Given the description of an element on the screen output the (x, y) to click on. 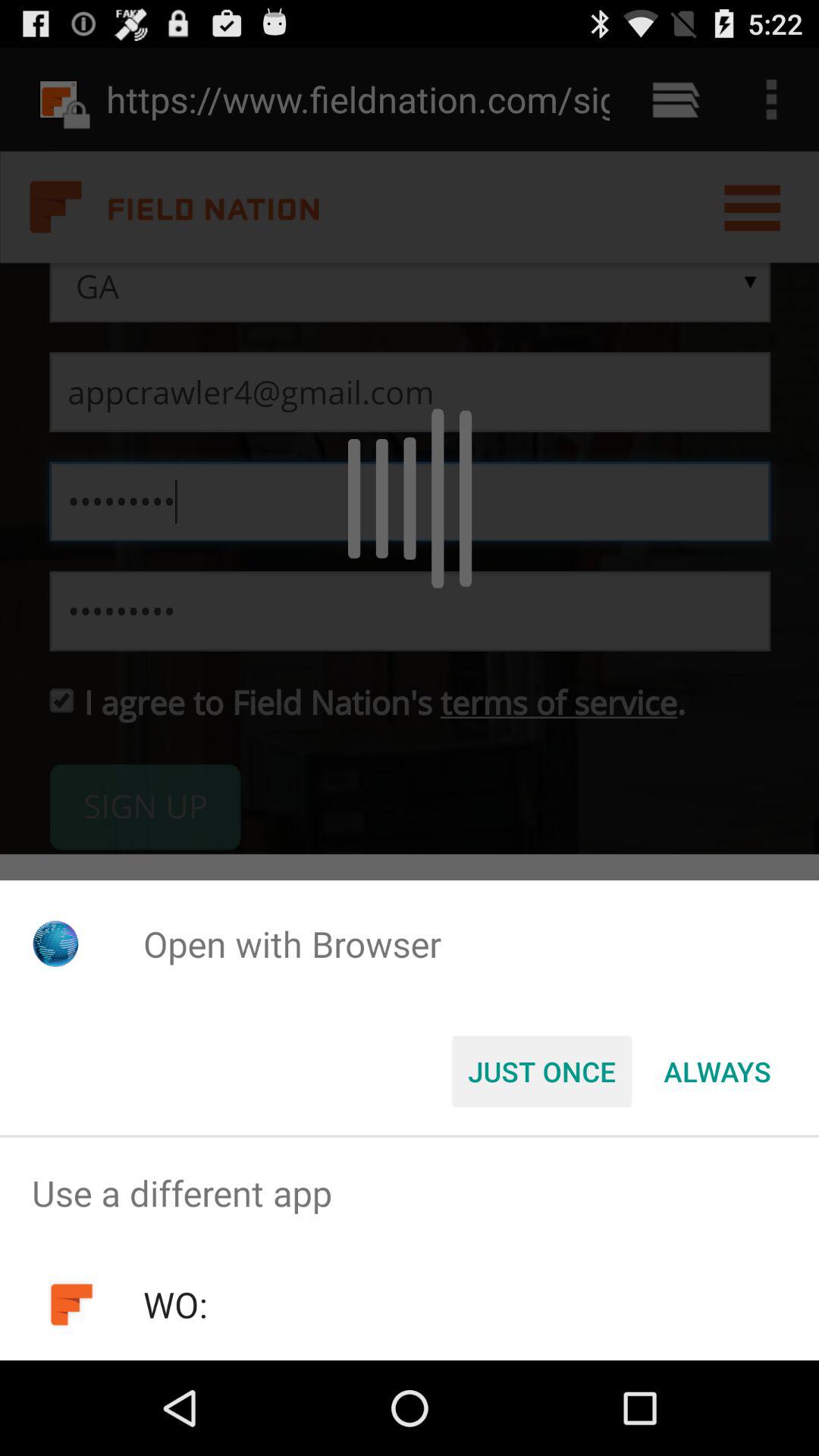
flip until the always item (717, 1071)
